Given the description of an element on the screen output the (x, y) to click on. 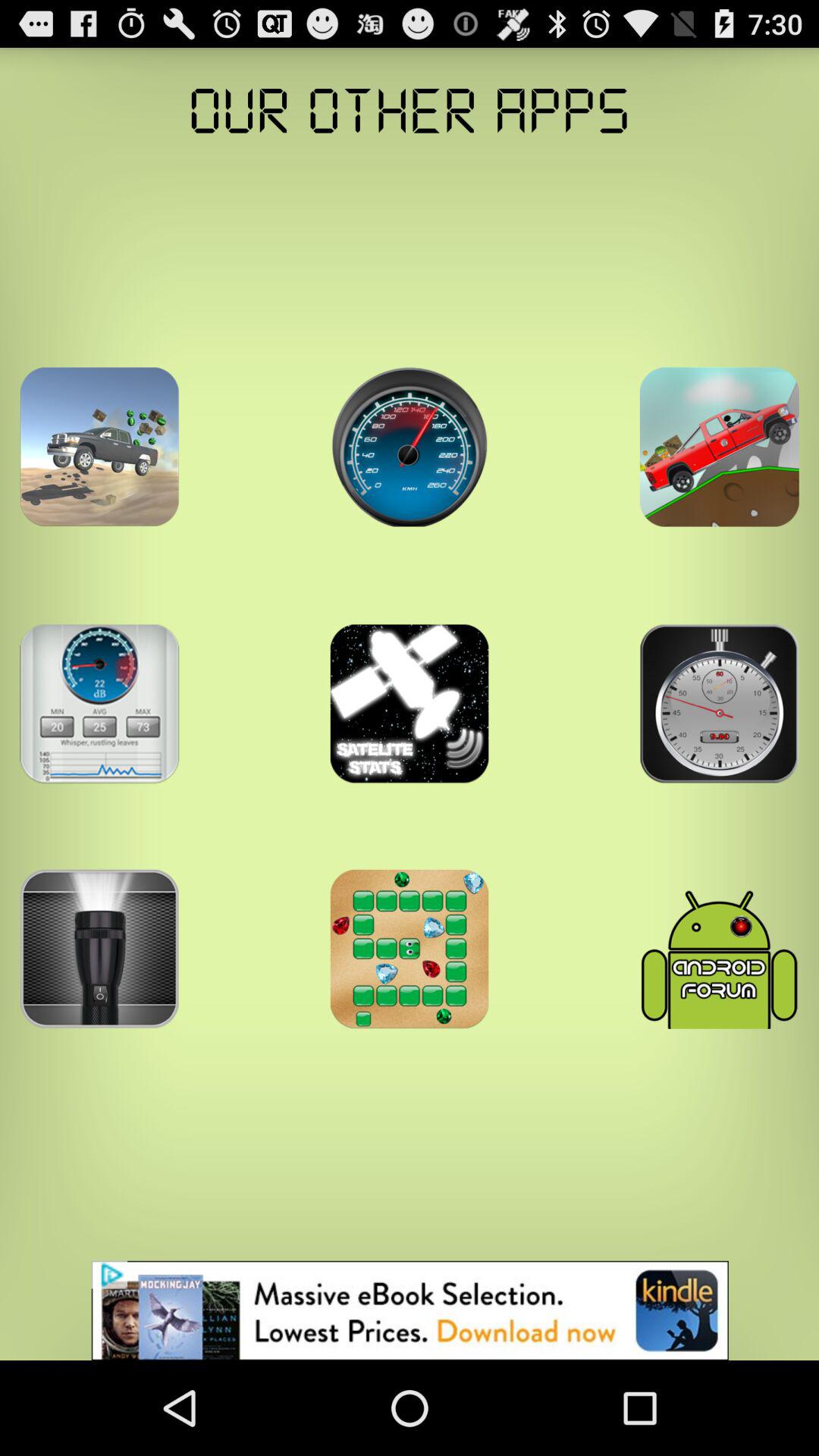
timer (99, 703)
